Given the description of an element on the screen output the (x, y) to click on. 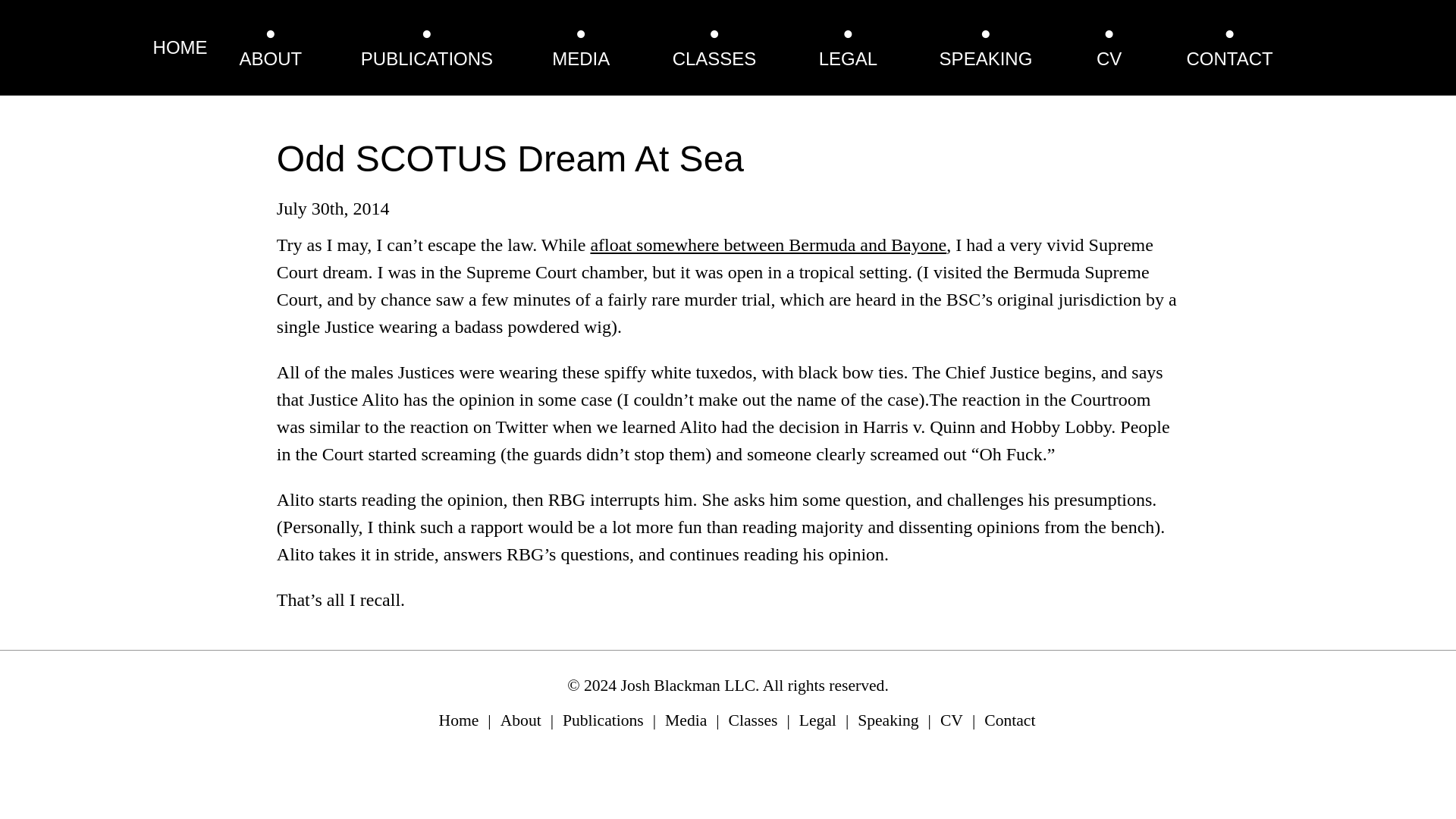
LEGAL (847, 58)
CV (1108, 58)
Home (459, 720)
About (520, 720)
CV (951, 720)
CONTACT (1229, 58)
SPEAKING (985, 58)
HOME (180, 47)
Media (685, 720)
Permanent Link to Odd SCOTUS Dream At Sea (510, 158)
Classes (753, 720)
Legal (817, 720)
Odd SCOTUS Dream At Sea (510, 158)
Publications (602, 720)
ABOUT (271, 58)
